Given the description of an element on the screen output the (x, y) to click on. 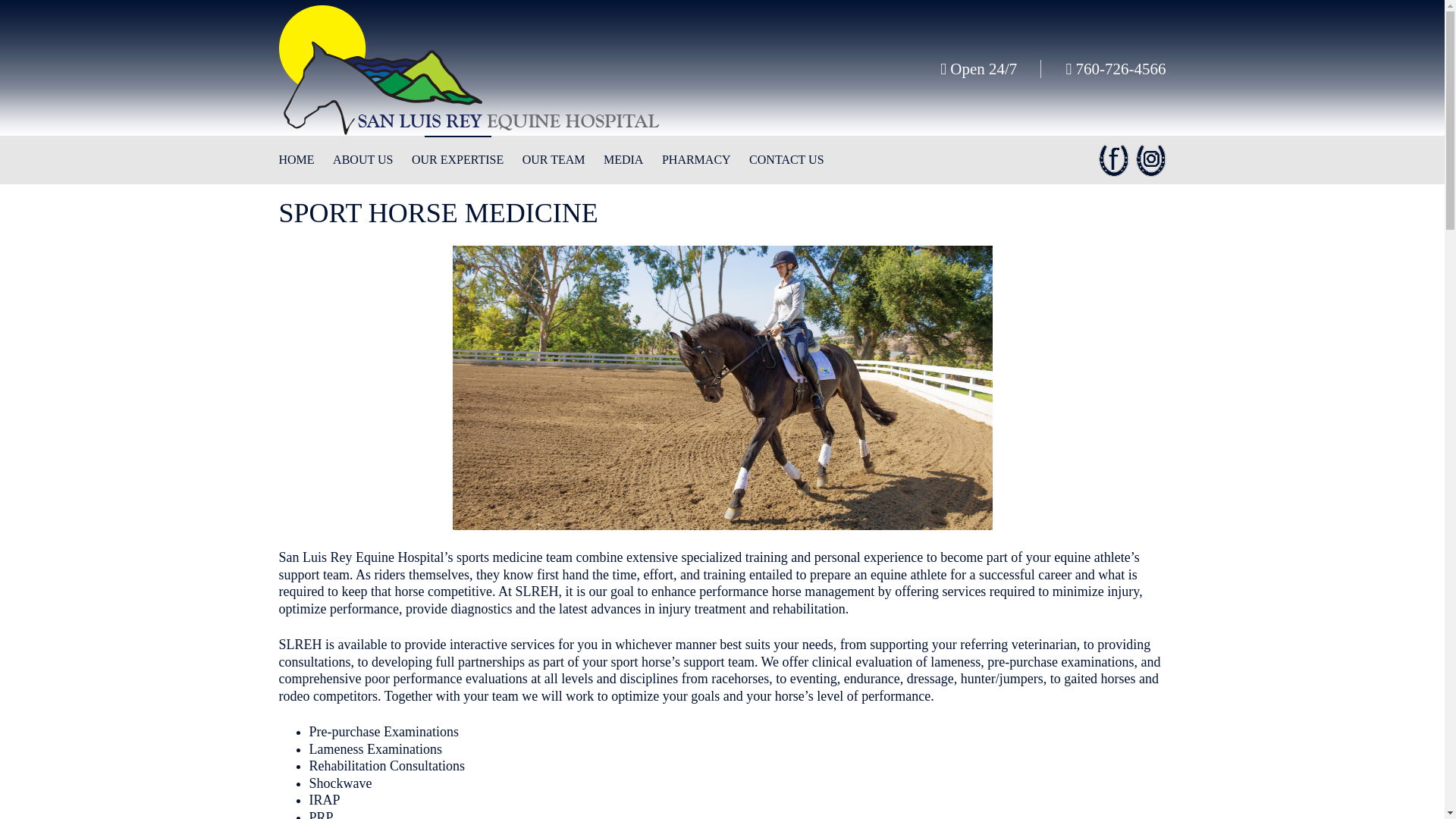
CONTACT US (782, 159)
OUR EXPERTISE (457, 159)
OUR TEAM (553, 159)
MEDIA (622, 159)
ABOUT US (362, 159)
PHARMACY (695, 159)
HOME (300, 159)
760-726-4566 (1103, 68)
